Given the description of an element on the screen output the (x, y) to click on. 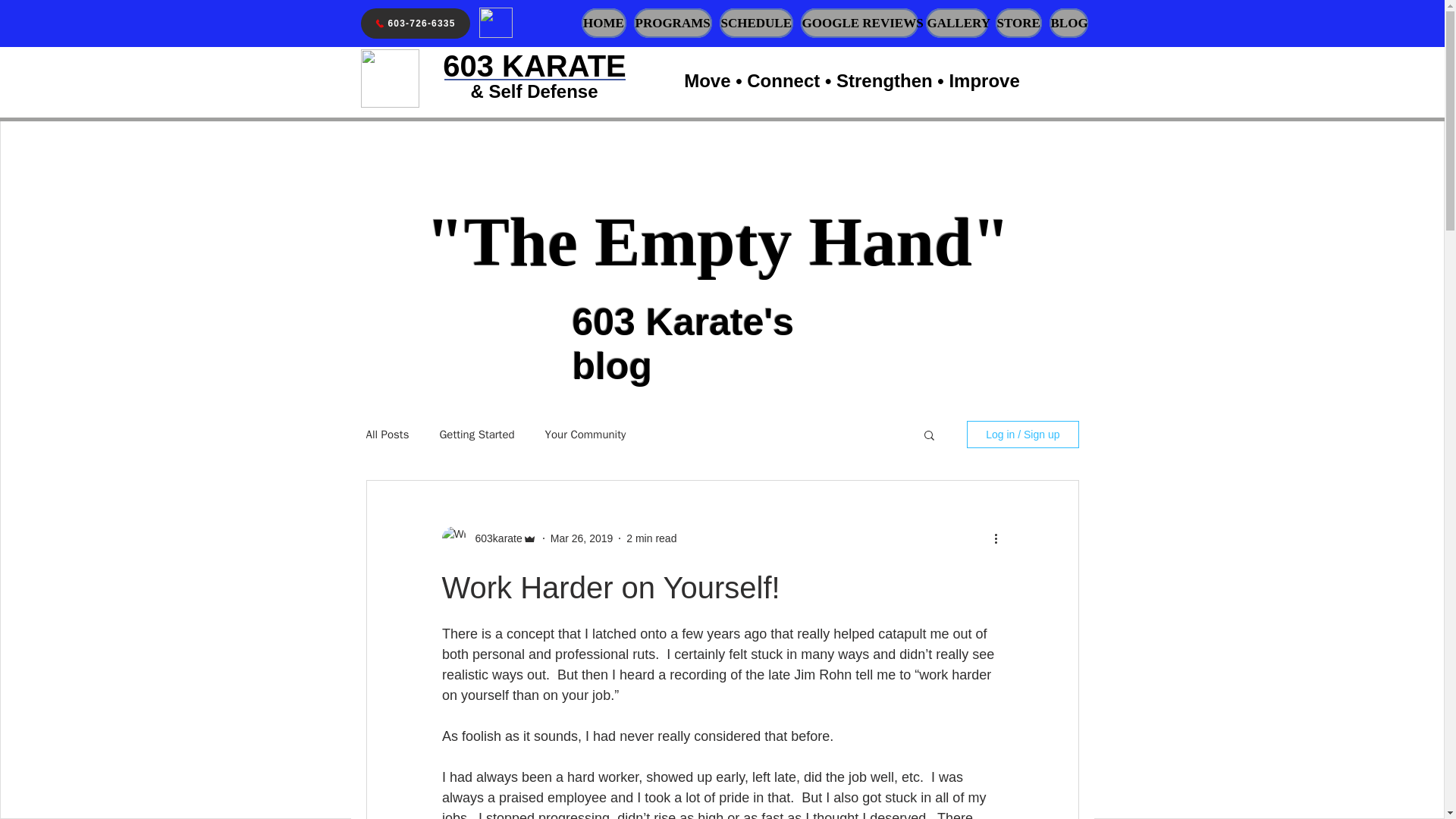
Getting Started (476, 434)
603-726-6335 (415, 23)
603karate (493, 538)
All Posts (387, 434)
603 (467, 65)
SCHEDULE (755, 22)
STORE (1017, 22)
GOOGLE REVIEWS (859, 22)
HOME (603, 22)
Your Community (585, 434)
GALLERY (955, 22)
2 min read (651, 538)
BLOG (1068, 22)
PROGRAMS (672, 22)
Mar 26, 2019 (581, 538)
